Given the description of an element on the screen output the (x, y) to click on. 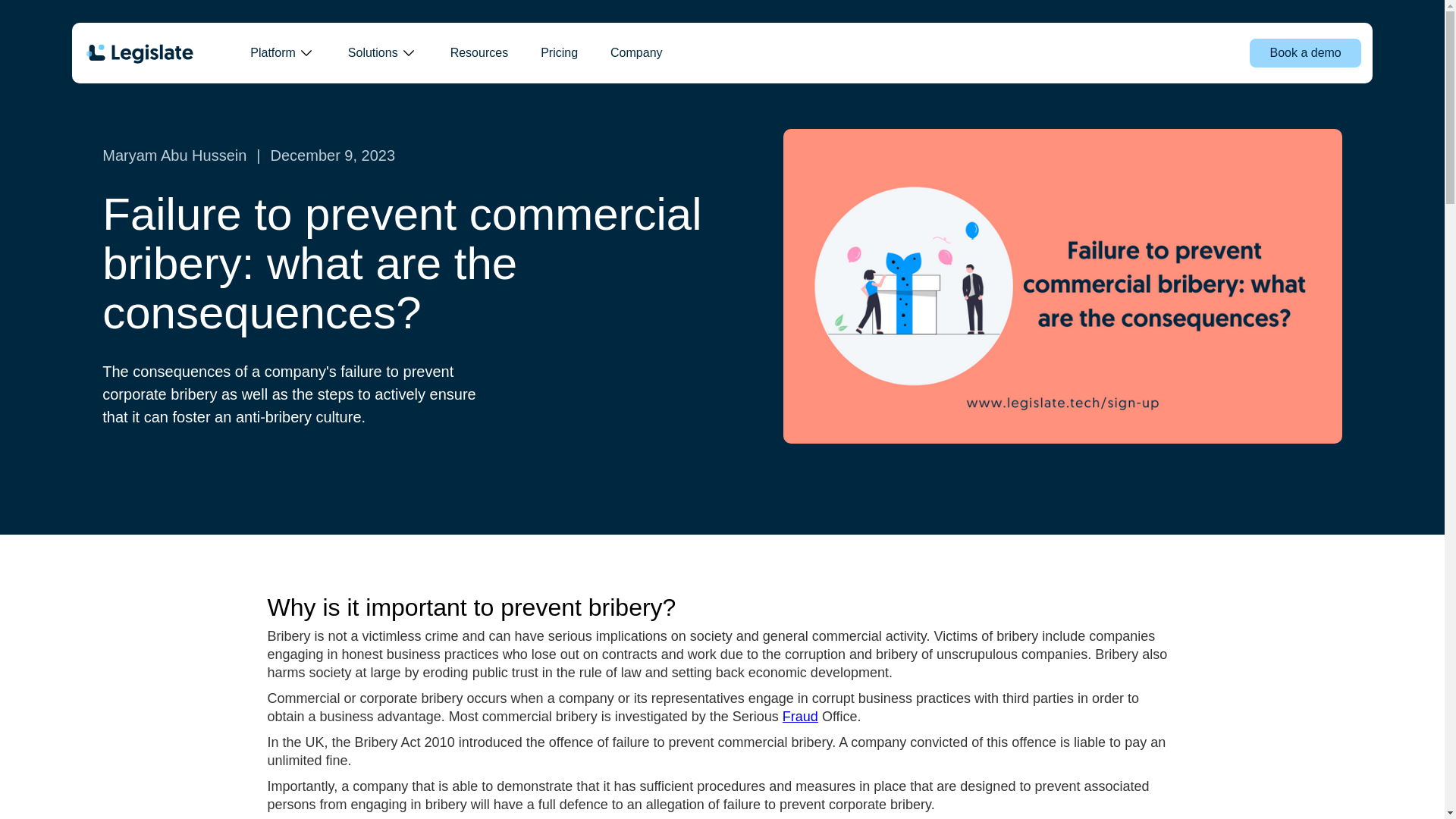
Book a demo (1304, 52)
Pricing (558, 52)
Fraud (800, 716)
